Given the description of an element on the screen output the (x, y) to click on. 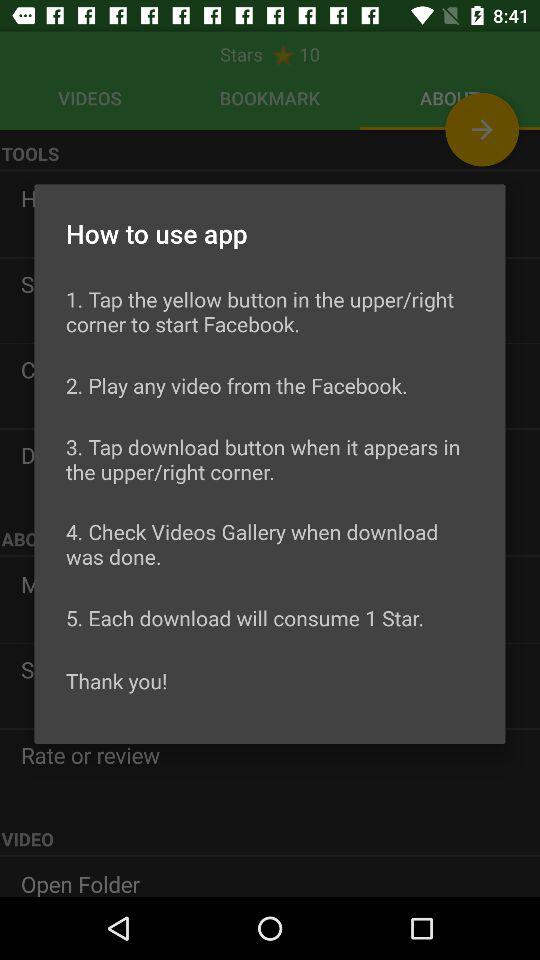
jump to 2 play any item (236, 385)
